Given the description of an element on the screen output the (x, y) to click on. 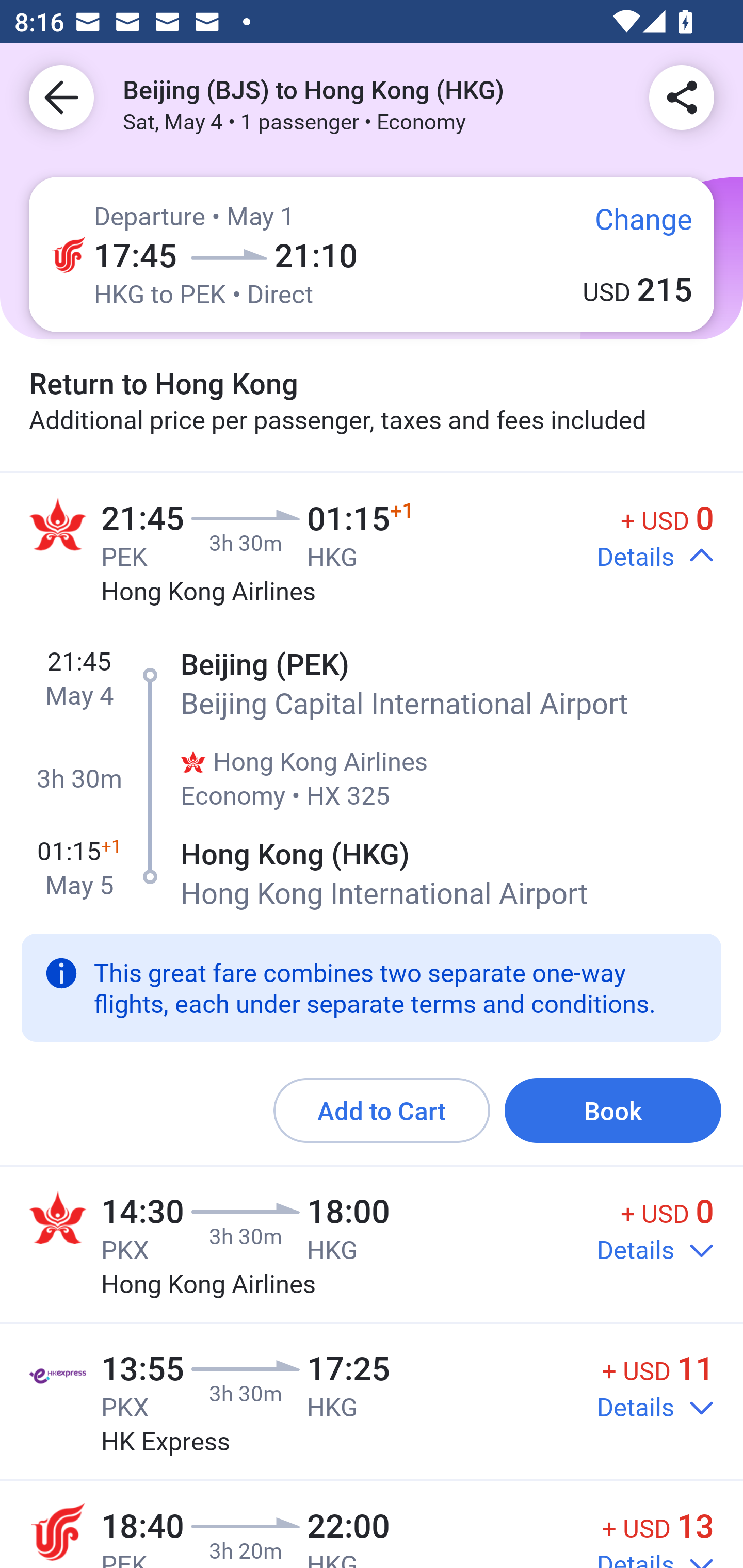
Change (629, 228)
Add to Cart (381, 1110)
Book (612, 1110)
